Given the description of an element on the screen output the (x, y) to click on. 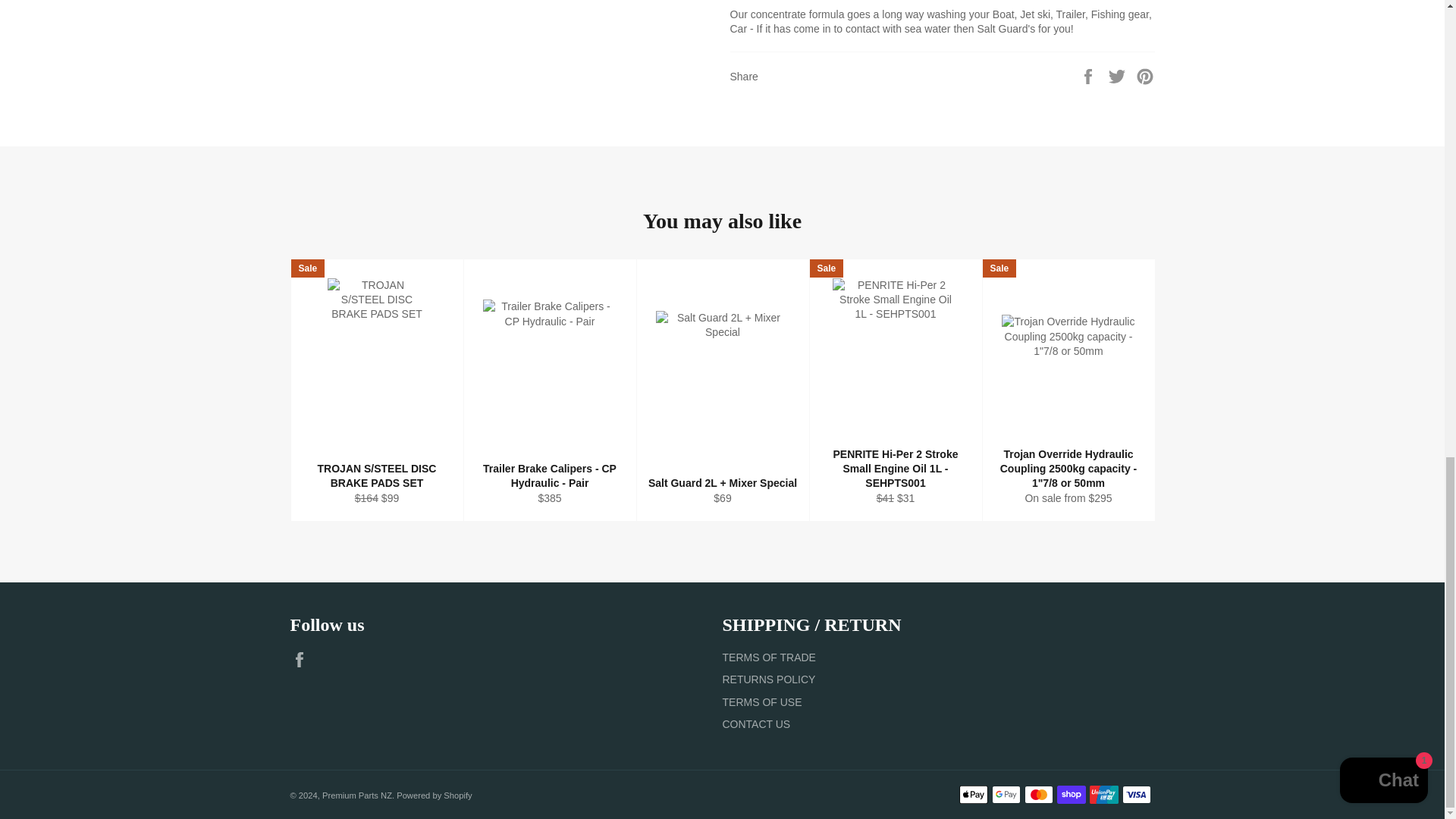
Premium Parts NZ on Facebook (302, 659)
Share on Facebook (1089, 75)
Pin on Pinterest (1144, 75)
Tweet on Twitter (1118, 75)
